Given the description of an element on the screen output the (x, y) to click on. 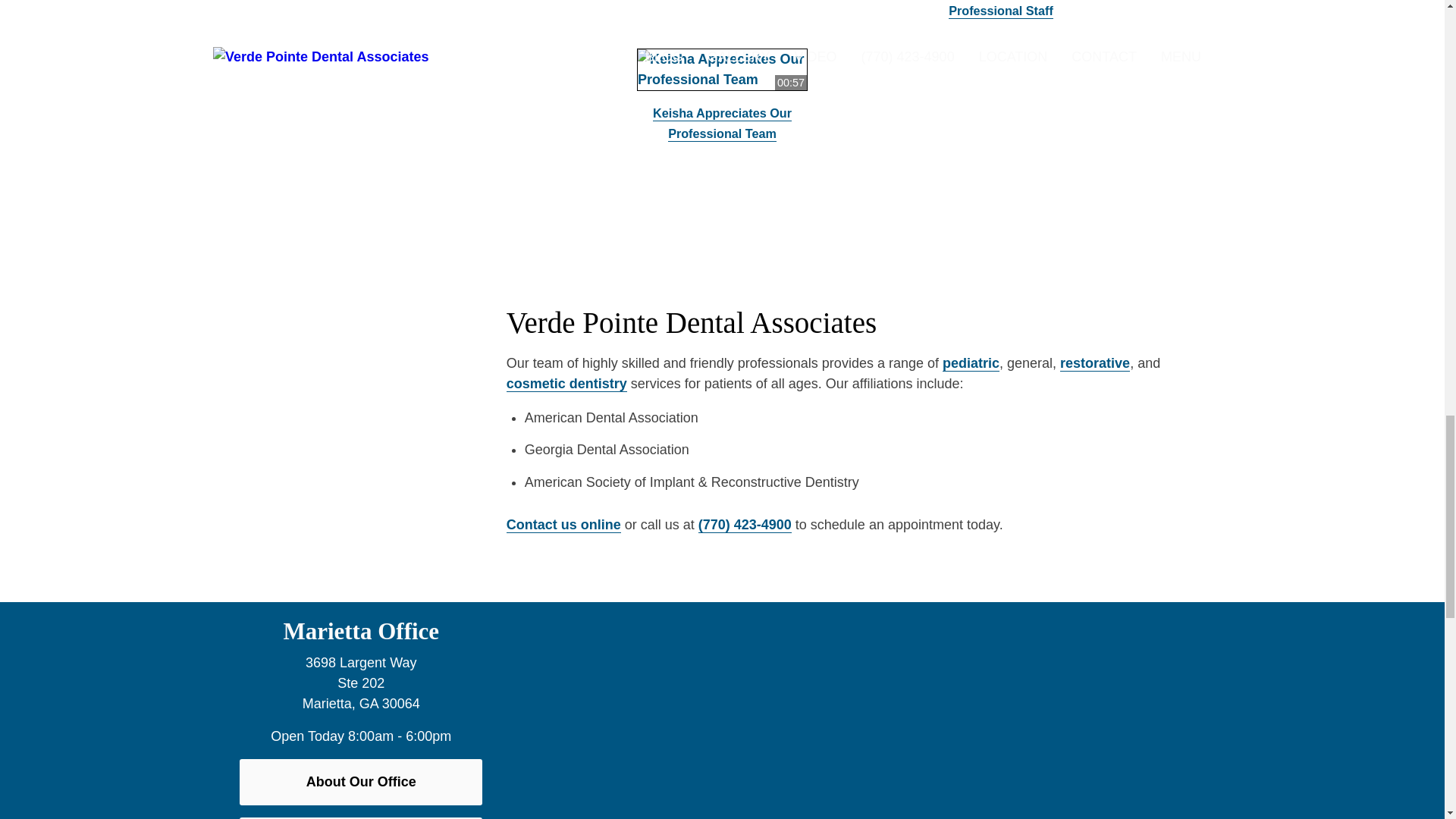
Locations (1008, 611)
